Given the description of an element on the screen output the (x, y) to click on. 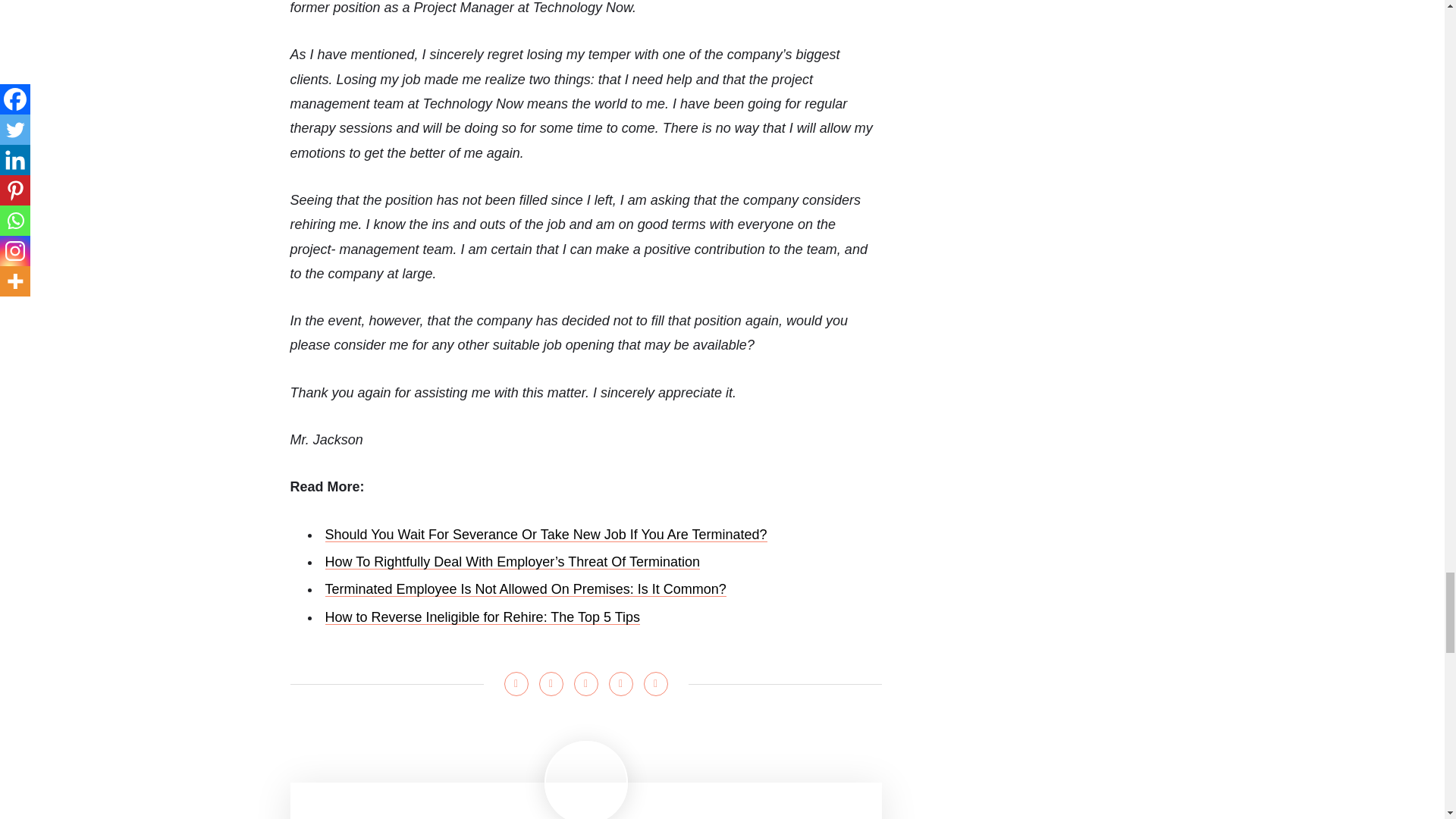
How to Reverse Ineligible for Rehire: The Top 5 Tips (482, 616)
